Given the description of an element on the screen output the (x, y) to click on. 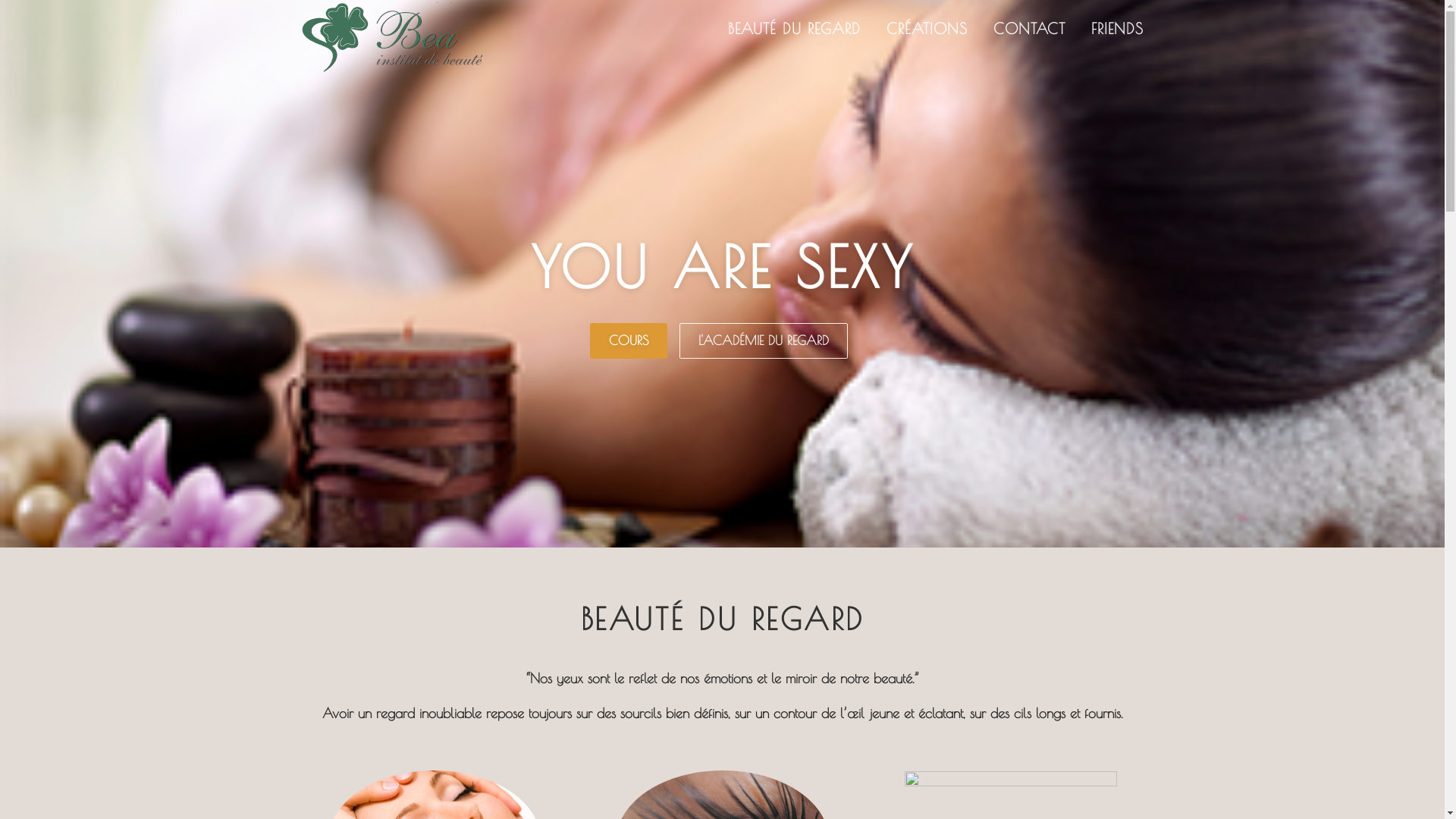
FRIENDS Element type: text (1110, 28)
CONTACT Element type: text (1028, 28)
COURS Element type: text (628, 340)
Aller au contenu Element type: text (48, 11)
